Given the description of an element on the screen output the (x, y) to click on. 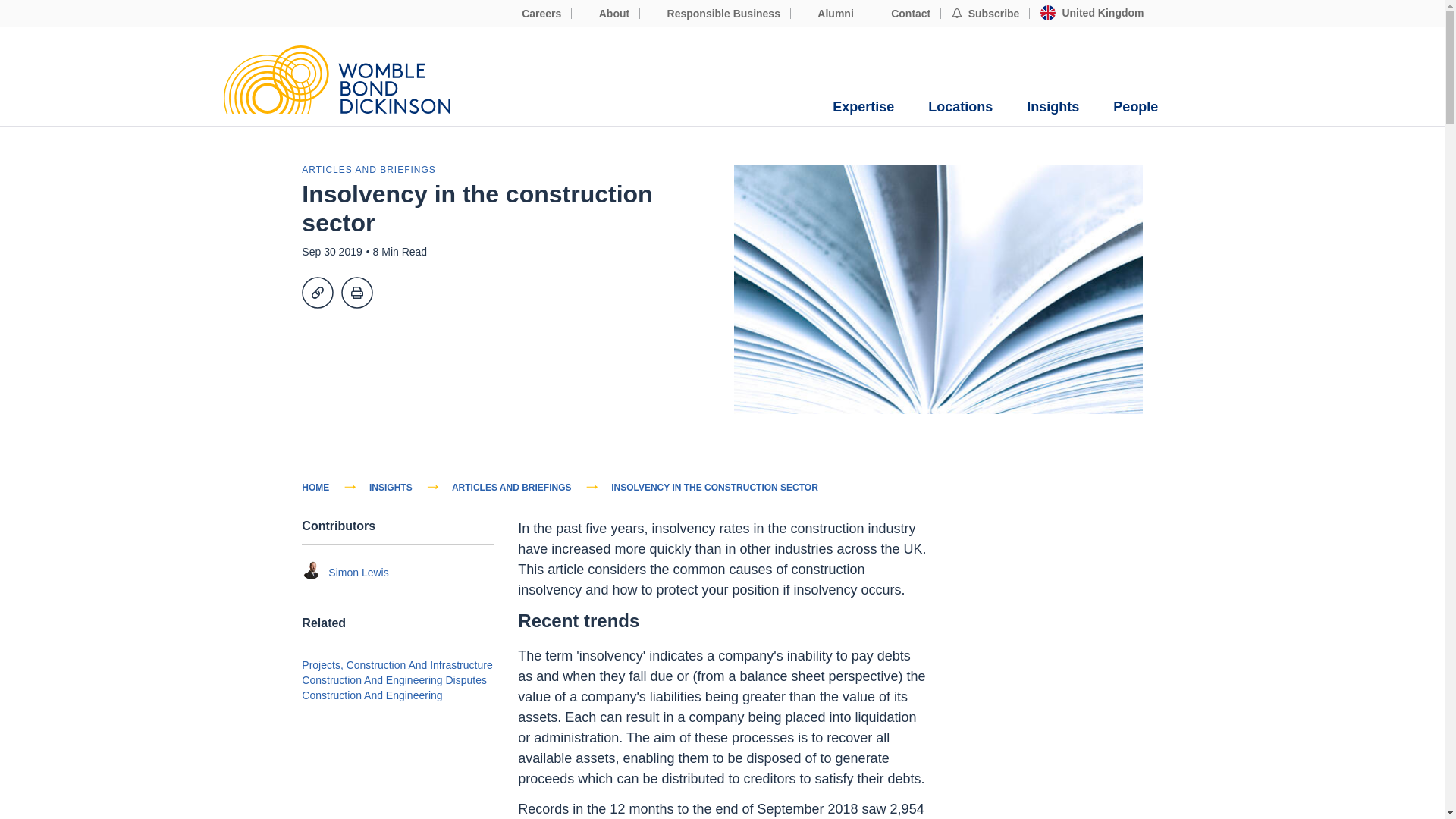
Contact (903, 13)
Expertise (862, 107)
Alumni (827, 13)
United Kingdom (1091, 13)
Simon Lewis (310, 569)
Responsible Business (715, 13)
Careers (533, 13)
About (606, 13)
